Given the description of an element on the screen output the (x, y) to click on. 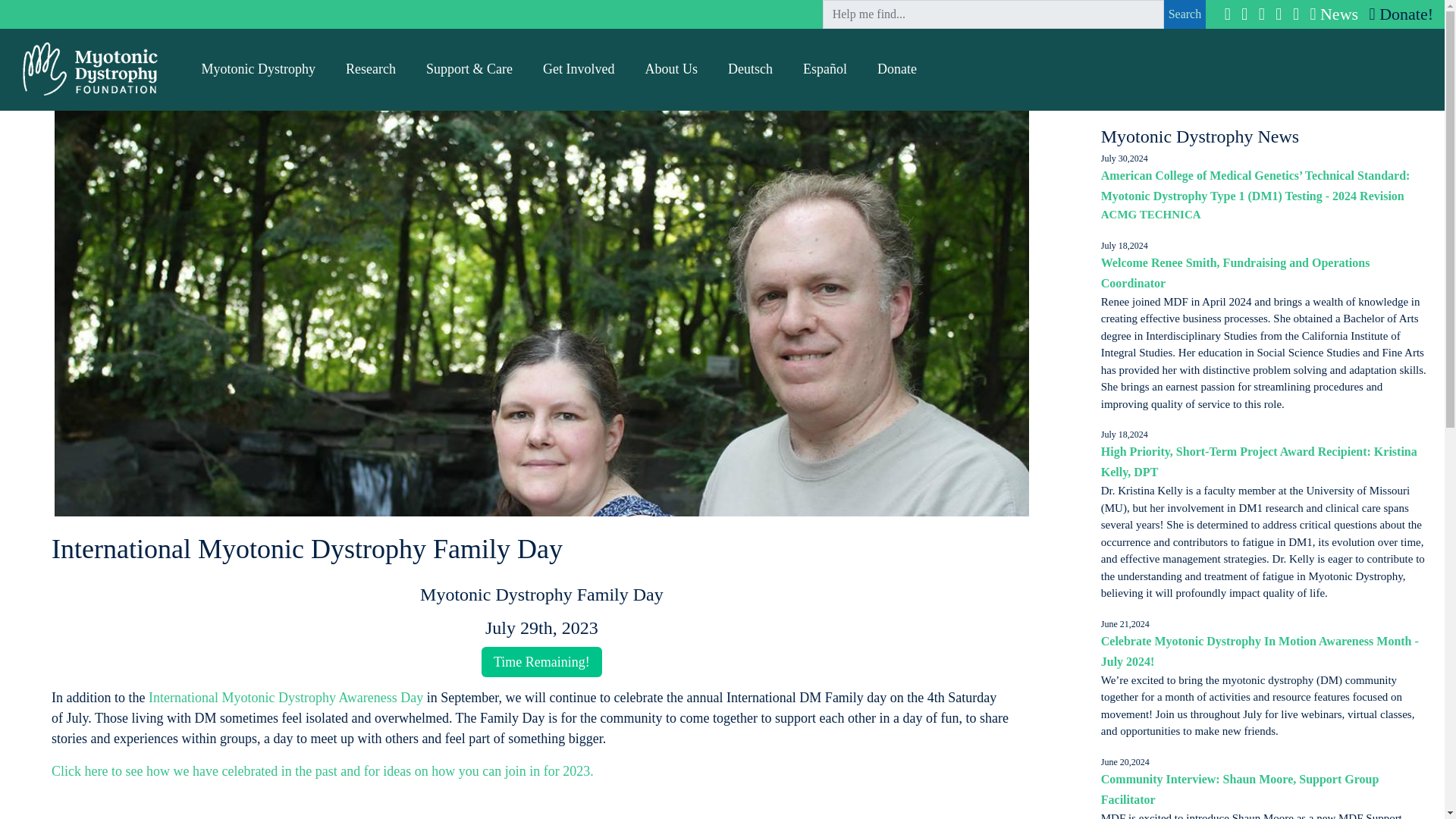
News (1332, 13)
Home (91, 67)
Enter the terms you wish to search for. (992, 14)
Information on recent DM research advances. (370, 69)
Research (370, 69)
Search (1185, 14)
Skip to main content (61, 11)
Donate to MDF (1398, 13)
Search (1185, 14)
Myotonic Dystrophy (258, 69)
News (1332, 13)
Myotonic Dystrophy in a nutshell. (258, 69)
 Donate! (1398, 13)
